Given the description of an element on the screen output the (x, y) to click on. 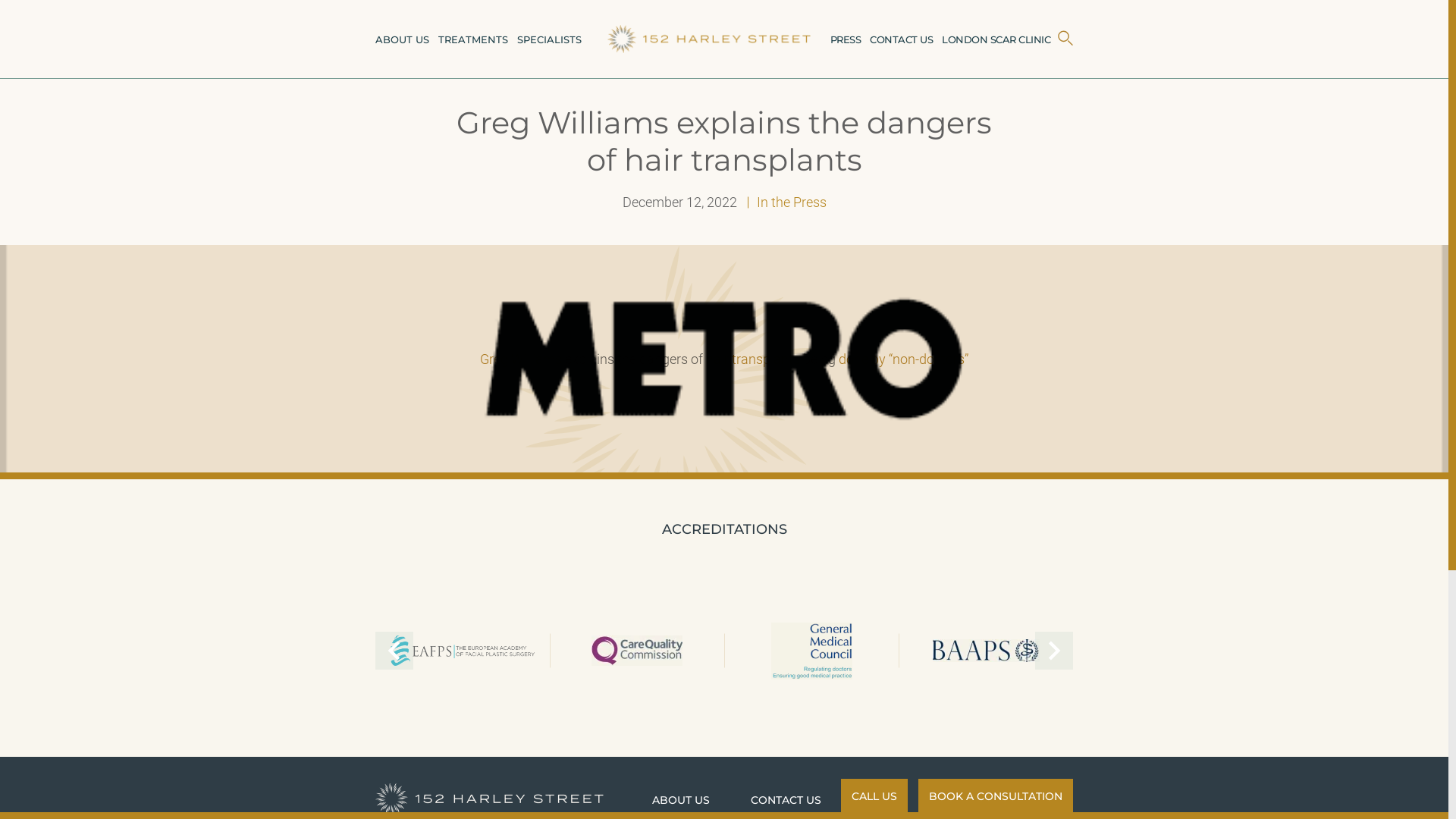
ABOUT US Element type: text (680, 799)
TREATMENTS Element type: text (473, 38)
SPECIALISTS Element type: text (549, 38)
PRESS Element type: text (844, 38)
LONDON SCAR CLINIC Element type: text (995, 38)
ABOUT US Element type: text (402, 38)
In the Press Element type: text (785, 202)
hair transplants  Element type: text (754, 358)
Greg Williams Element type: text (520, 358)
CONTACT US Element type: text (900, 38)
CALL US Element type: text (873, 795)
CONTACT US Element type: text (785, 799)
BOOK A CONSULTATION Element type: text (995, 795)
